Given the description of an element on the screen output the (x, y) to click on. 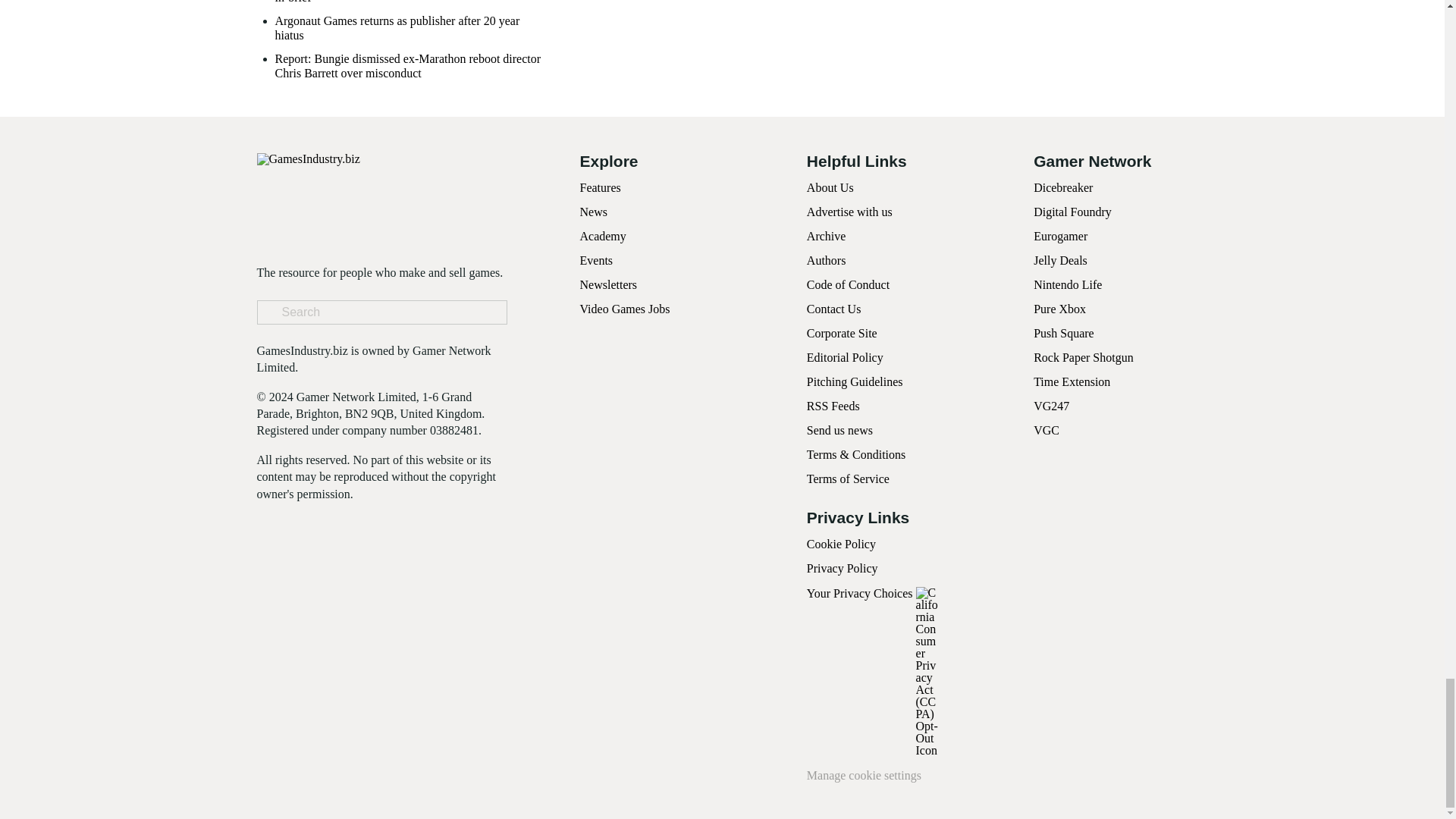
Video Games Jobs (624, 308)
Argonaut Games returns as publisher after 20 year hiatus (409, 27)
Advertise with us (849, 211)
News (593, 211)
Newsletters (608, 284)
Features (599, 187)
Events (595, 259)
Academy (602, 236)
About Us (829, 187)
